Given the description of an element on the screen output the (x, y) to click on. 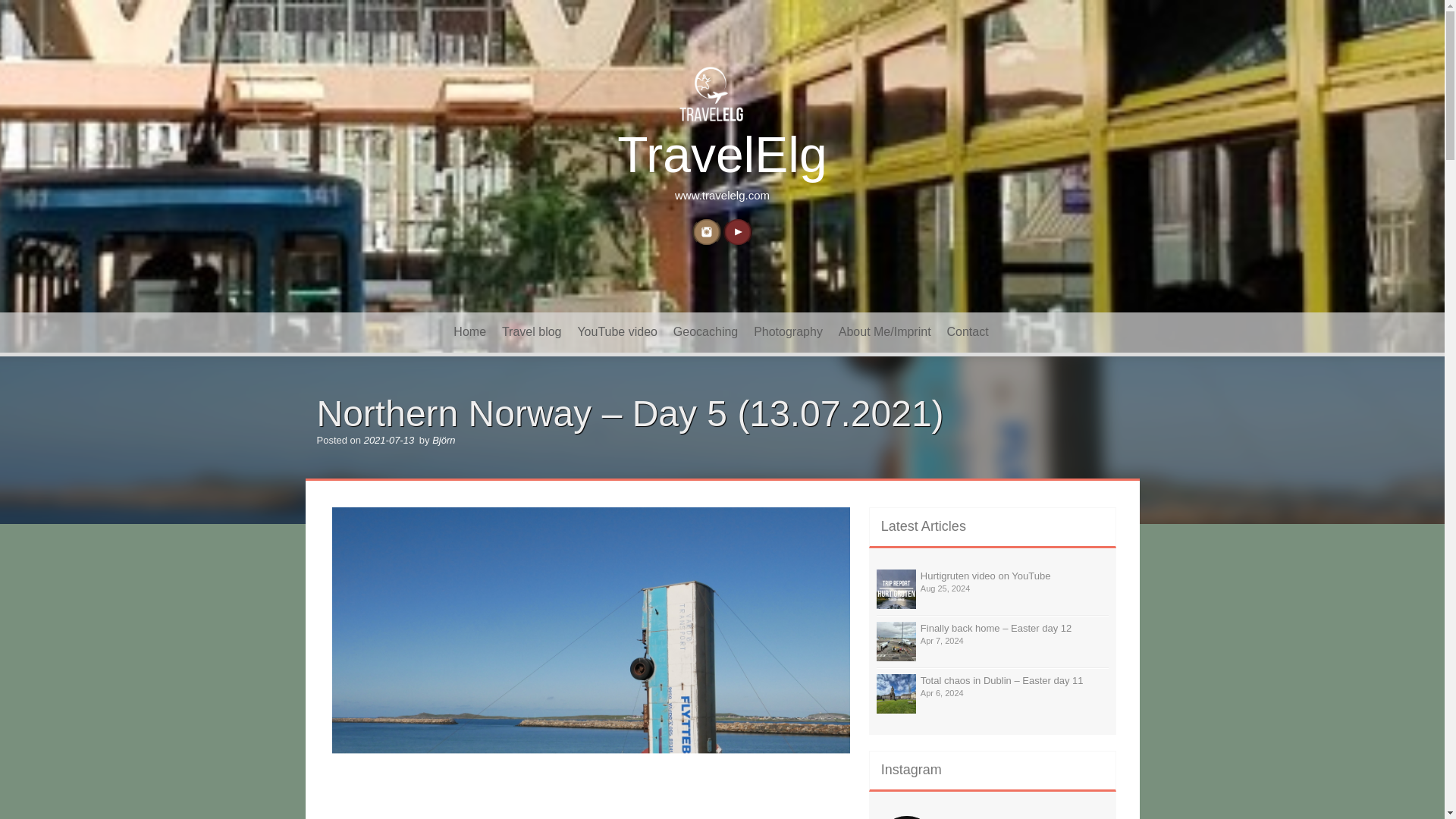
Geocaching (705, 332)
Home (469, 332)
Travel blog (532, 332)
TravelElg (722, 153)
YouTube video (617, 332)
Photography (787, 332)
